Given the description of an element on the screen output the (x, y) to click on. 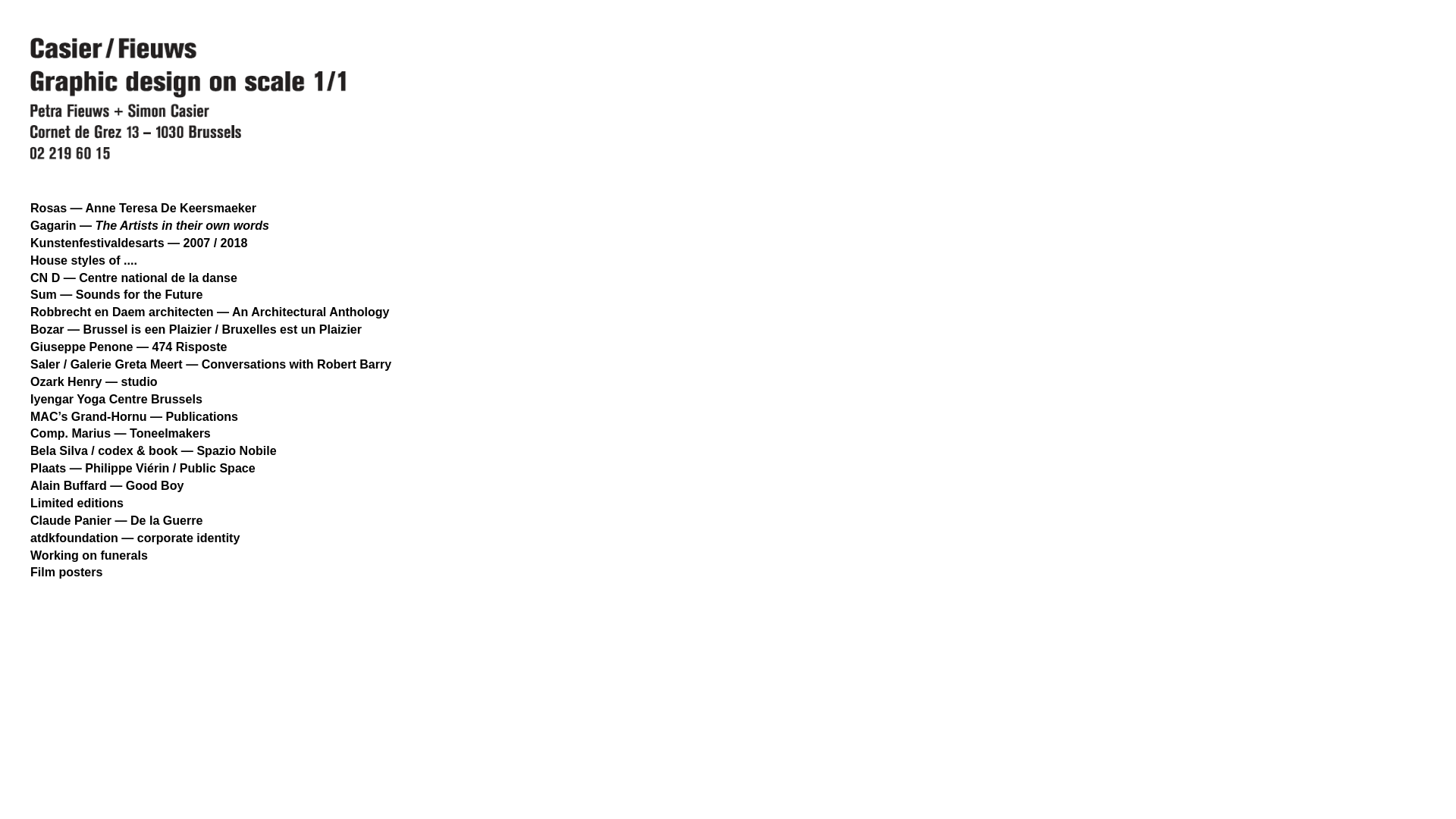
Limited editions Element type: text (76, 502)
Film posters Element type: text (66, 571)
Iyengar Yoga Centre Brussels Element type: text (116, 398)
Working on funerals Element type: text (88, 554)
House styles of .... Element type: text (83, 259)
